Given the description of an element on the screen output the (x, y) to click on. 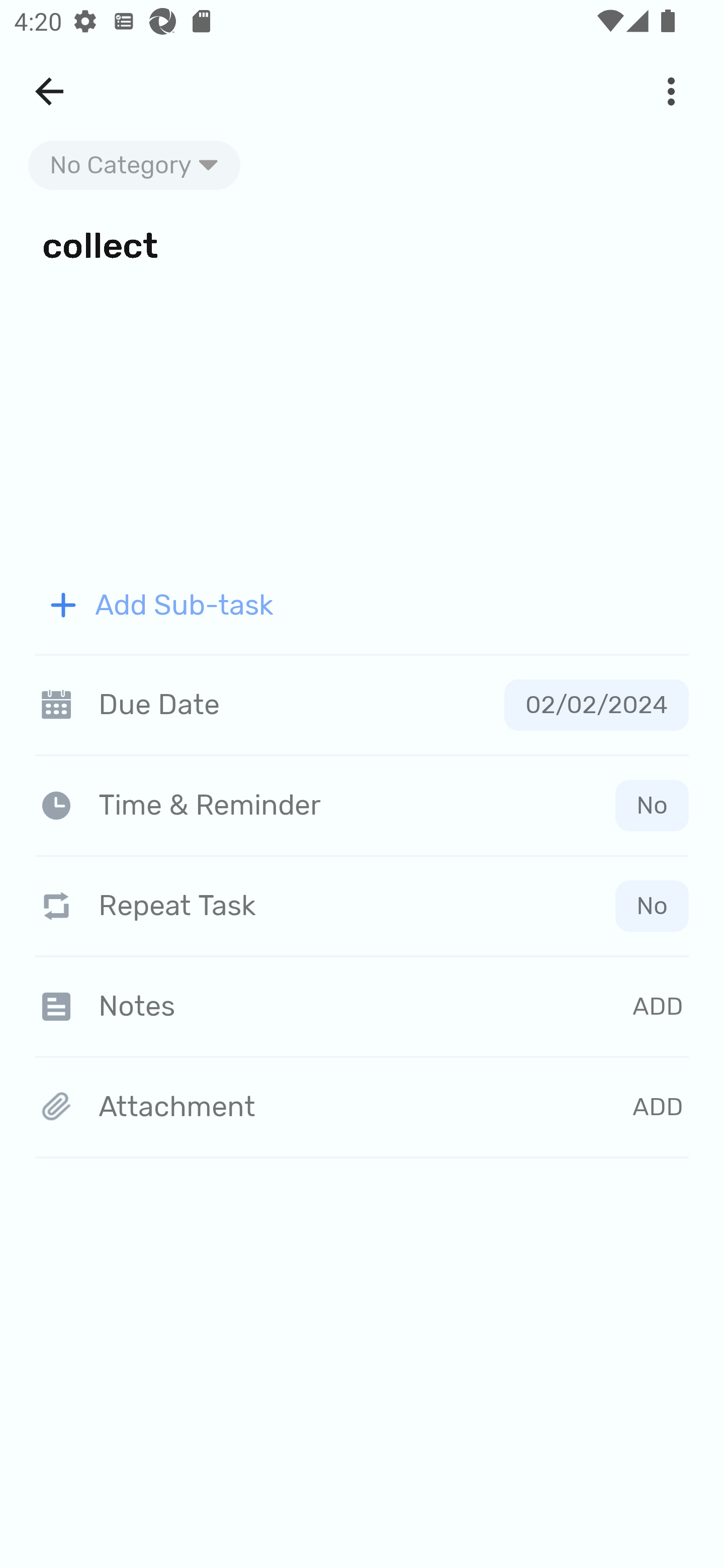
No Category (134, 165)
collect (362, 244)
Add Sub-task (362, 604)
Due Date 02/02/2024 (362, 704)
Time & Reminder No (365, 804)
Repeat Task No (362, 905)
Notes ADD (362, 1006)
Attachment ADD (362, 1107)
